Given the description of an element on the screen output the (x, y) to click on. 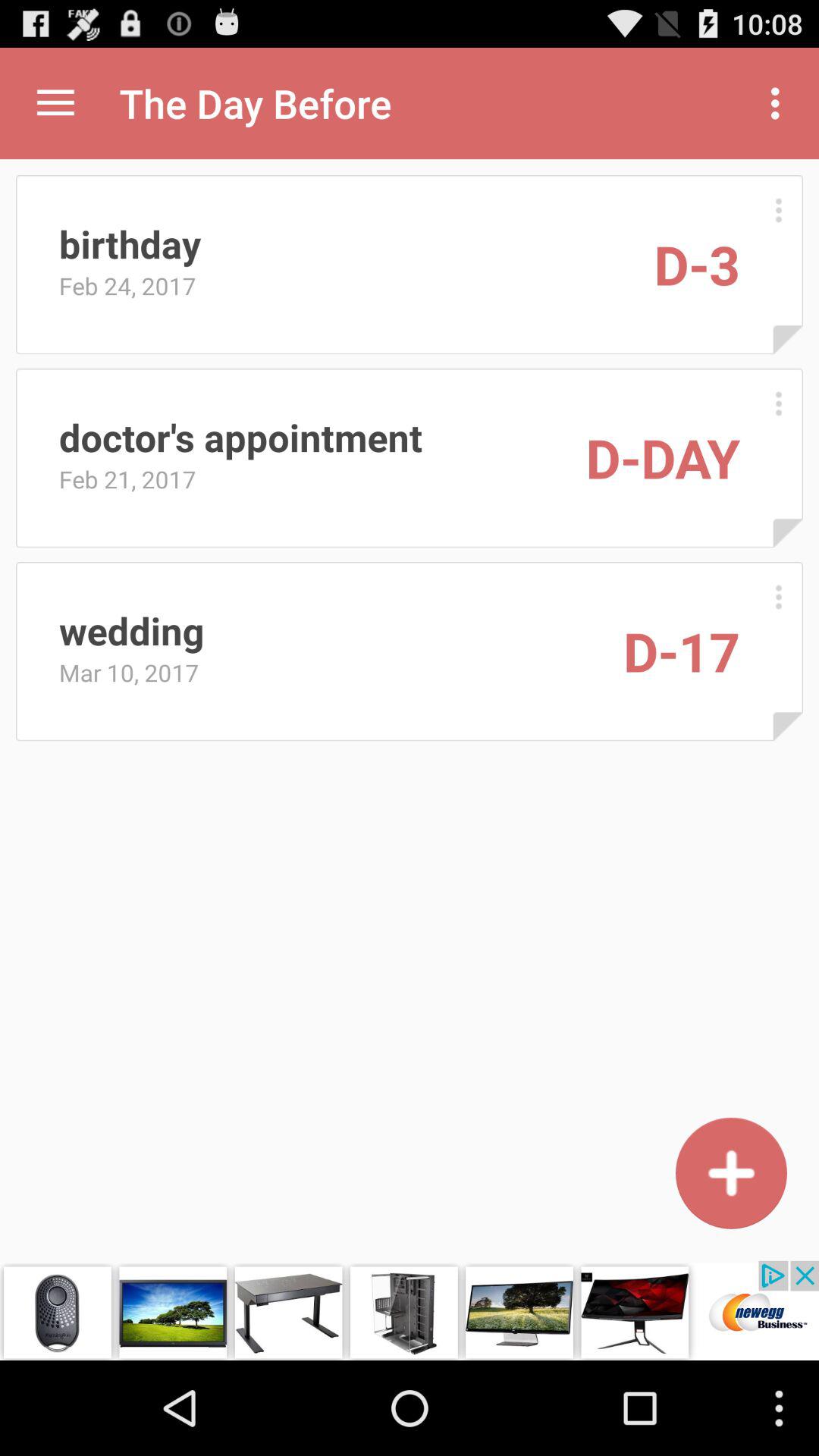
open the options (777, 209)
